Given the description of an element on the screen output the (x, y) to click on. 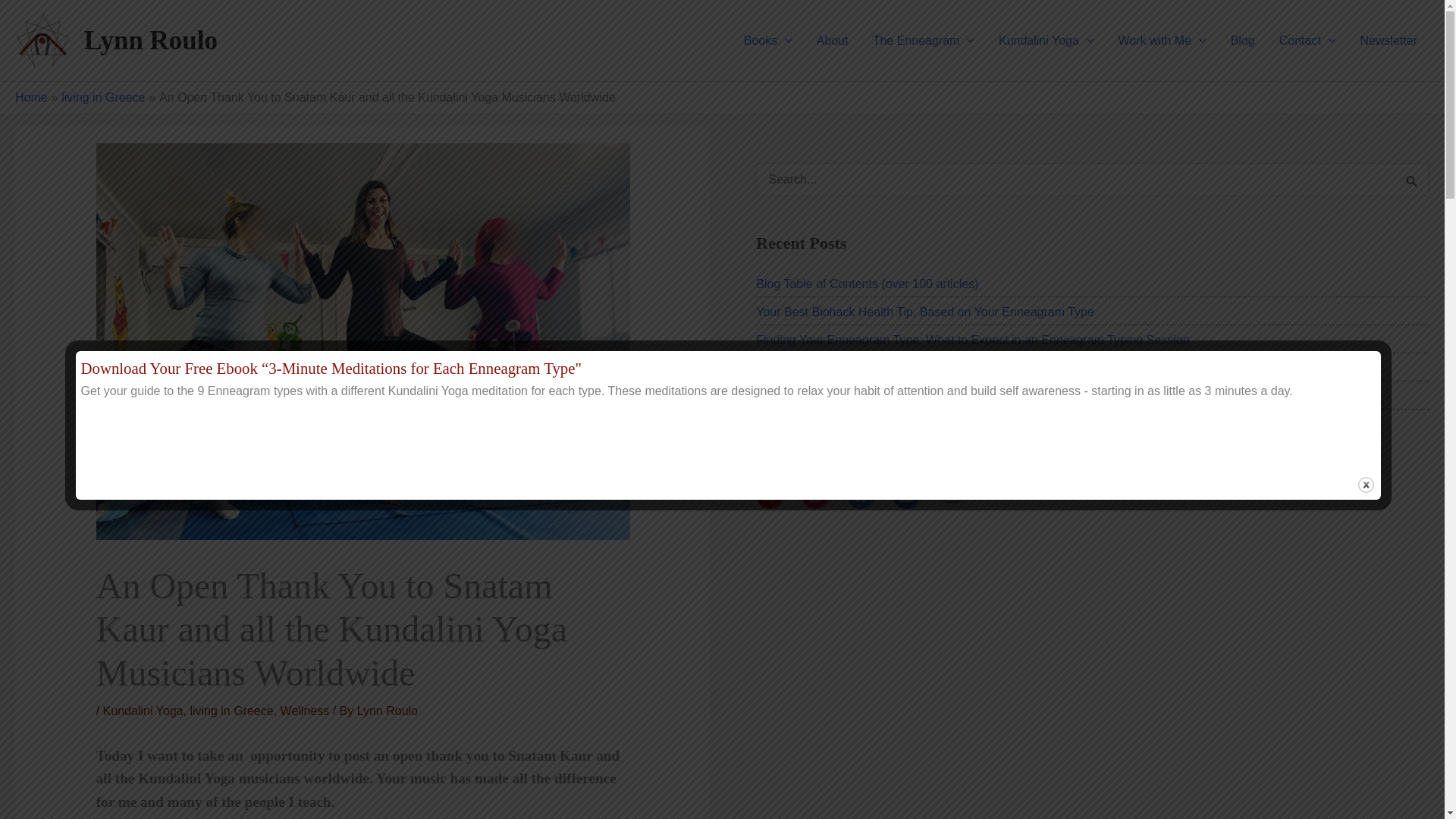
Books (768, 39)
Close (1364, 484)
Contact (1307, 39)
Lynn Roulo (150, 40)
Kundalini Yoga (1046, 39)
Work with Me (1161, 39)
View all posts by Lynn Roulo (386, 710)
About (832, 39)
Blog (1242, 39)
The Enneagram (923, 39)
YouTube video player (967, 701)
